Given the description of an element on the screen output the (x, y) to click on. 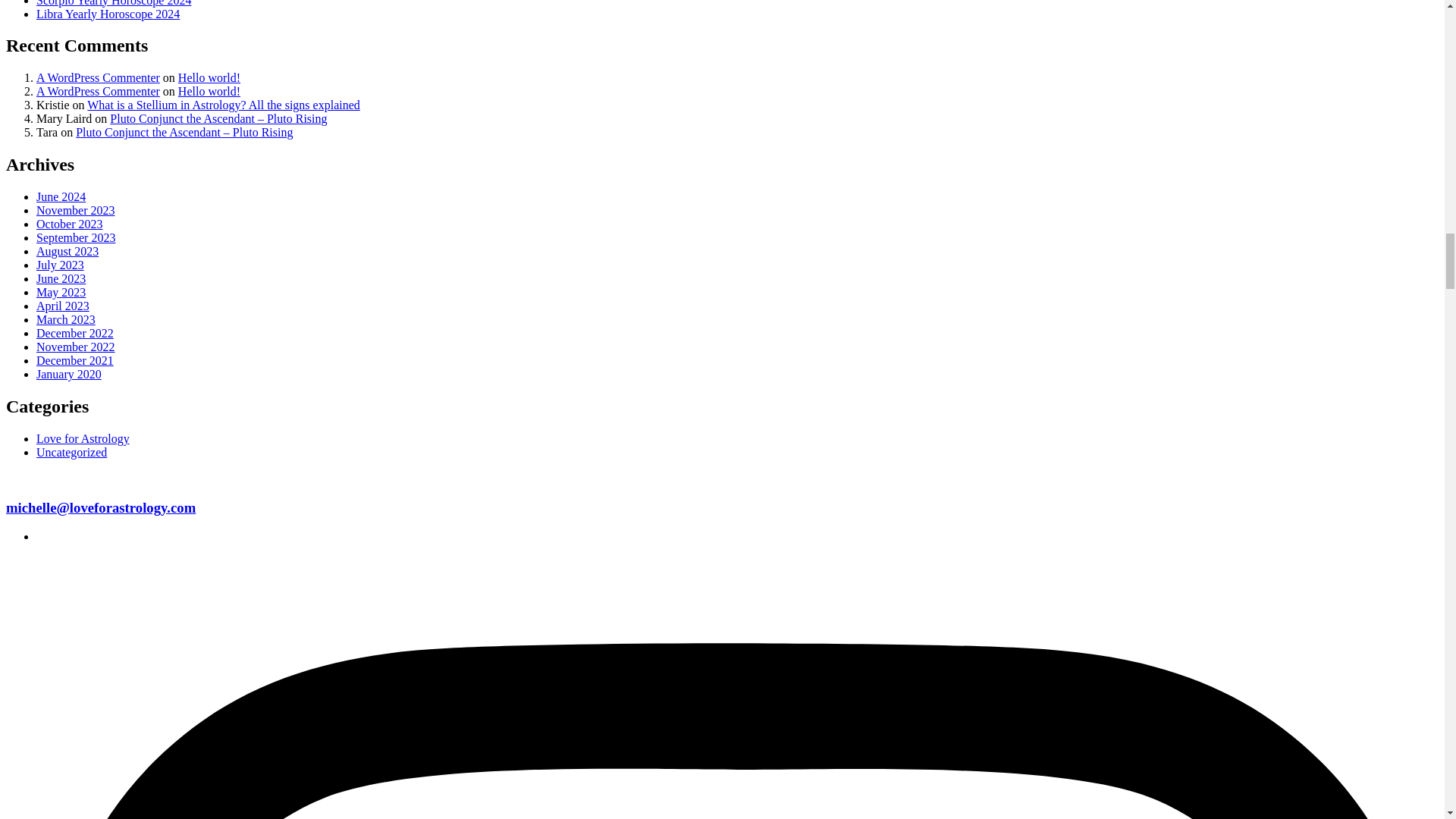
November 2023 (75, 210)
What is a Stellium in Astrology? All the signs explained (223, 104)
June 2024 (60, 196)
A WordPress Commenter (98, 91)
Hello world! (208, 77)
Libra Yearly Horoscope 2024 (107, 13)
Scorpio Yearly Horoscope 2024 (113, 3)
October 2023 (69, 223)
September 2023 (75, 237)
A WordPress Commenter (98, 77)
Hello world! (208, 91)
